Given the description of an element on the screen output the (x, y) to click on. 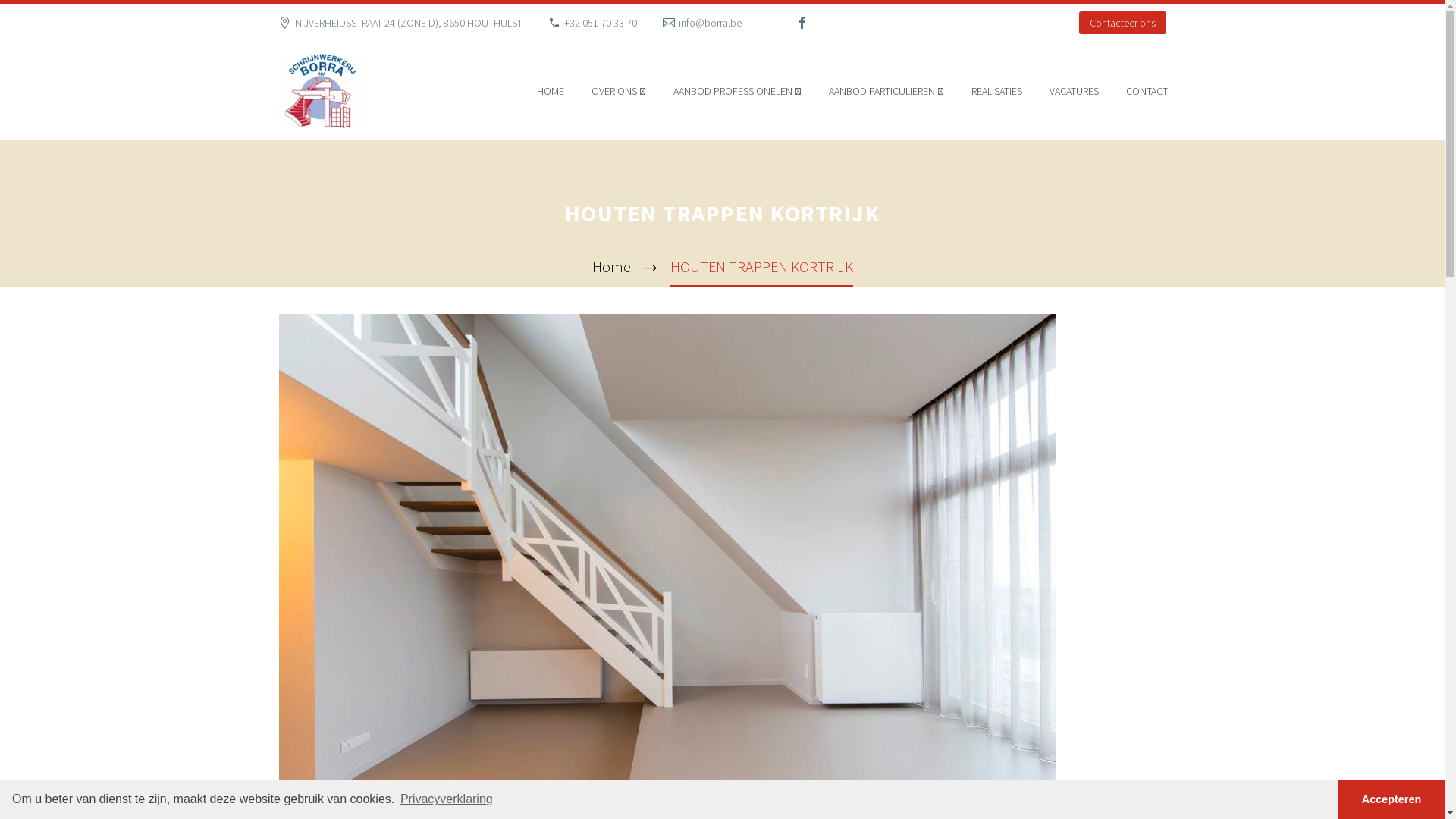
REALISATIES Element type: text (996, 90)
Contacteer ons Element type: text (1121, 22)
Privacyverklaring Element type: text (446, 798)
CONTACT Element type: text (1146, 90)
+32 051 70 33 70 Element type: text (600, 22)
Home Element type: text (610, 266)
HOME Element type: text (549, 90)
info@borra.be Element type: text (709, 22)
VACATURES Element type: text (1073, 90)
Facebook Element type: hover (801, 22)
